Given the description of an element on the screen output the (x, y) to click on. 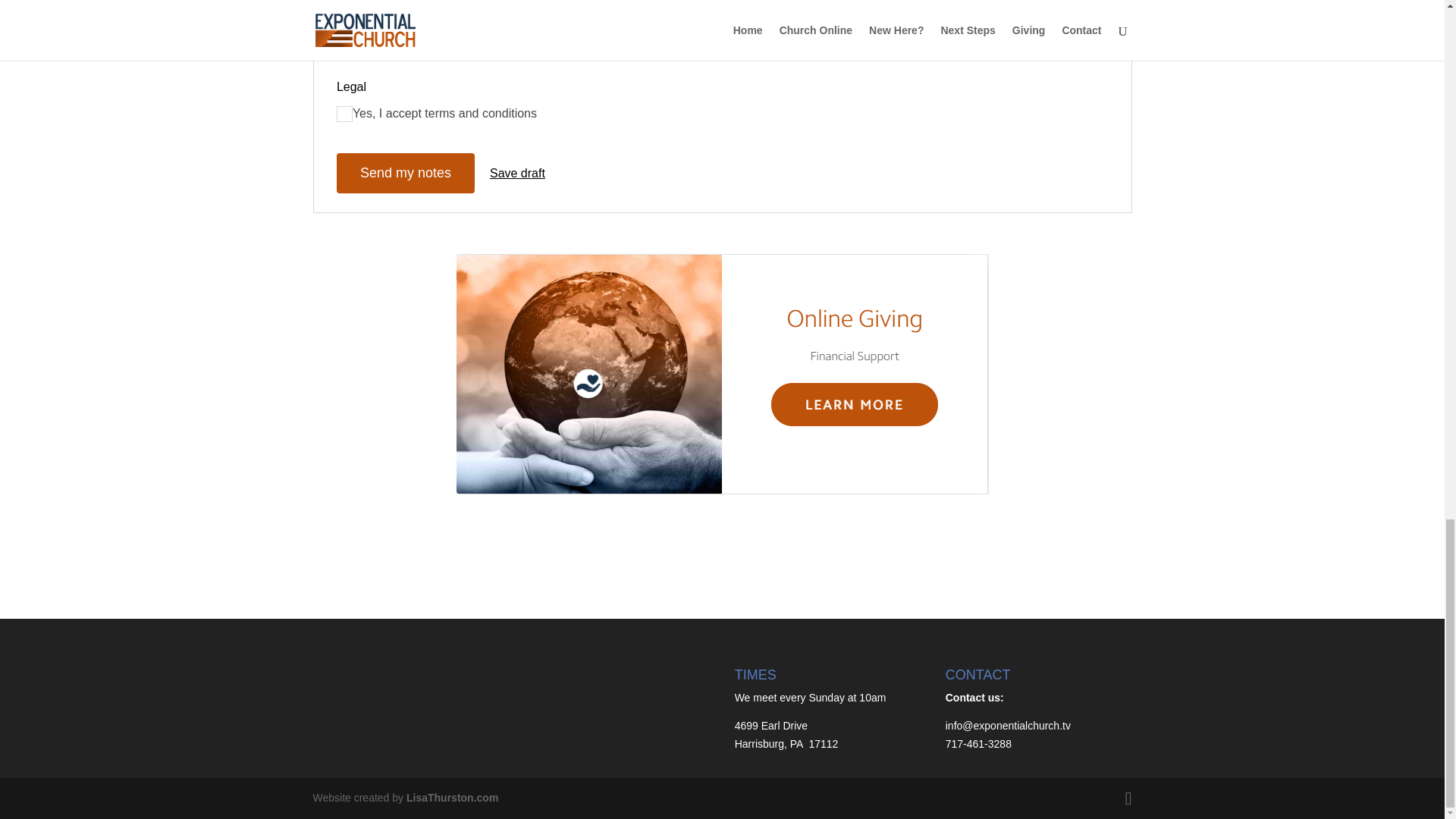
LisaThurston.com (451, 797)
4699 Earl Drive (771, 725)
Send my notes (405, 173)
Save draft (516, 173)
